Given the description of an element on the screen output the (x, y) to click on. 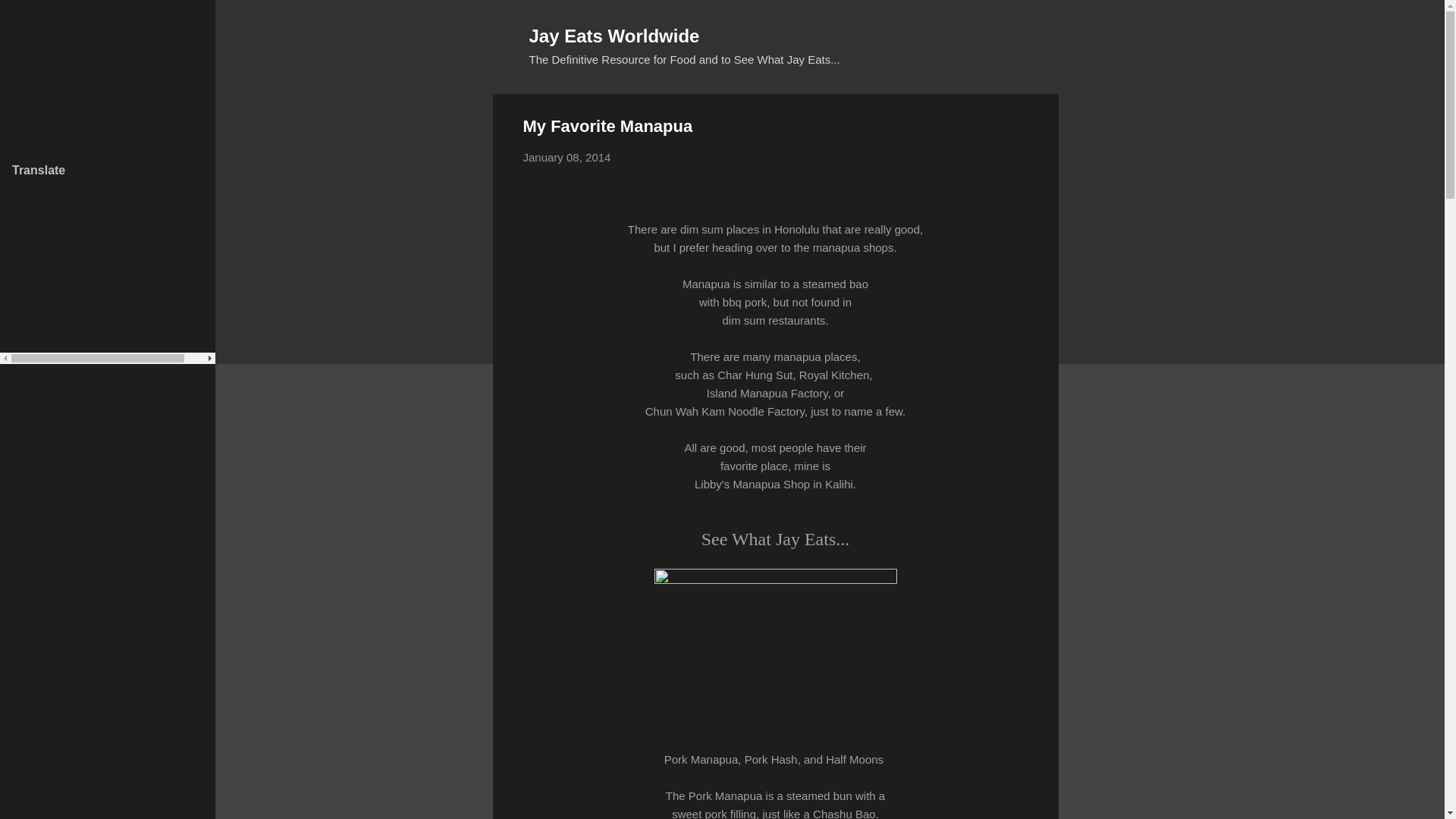
January 08, 2014 (566, 156)
Jay Eats Worldwide (614, 35)
Search (29, 18)
permanent link (566, 156)
